Given the description of an element on the screen output the (x, y) to click on. 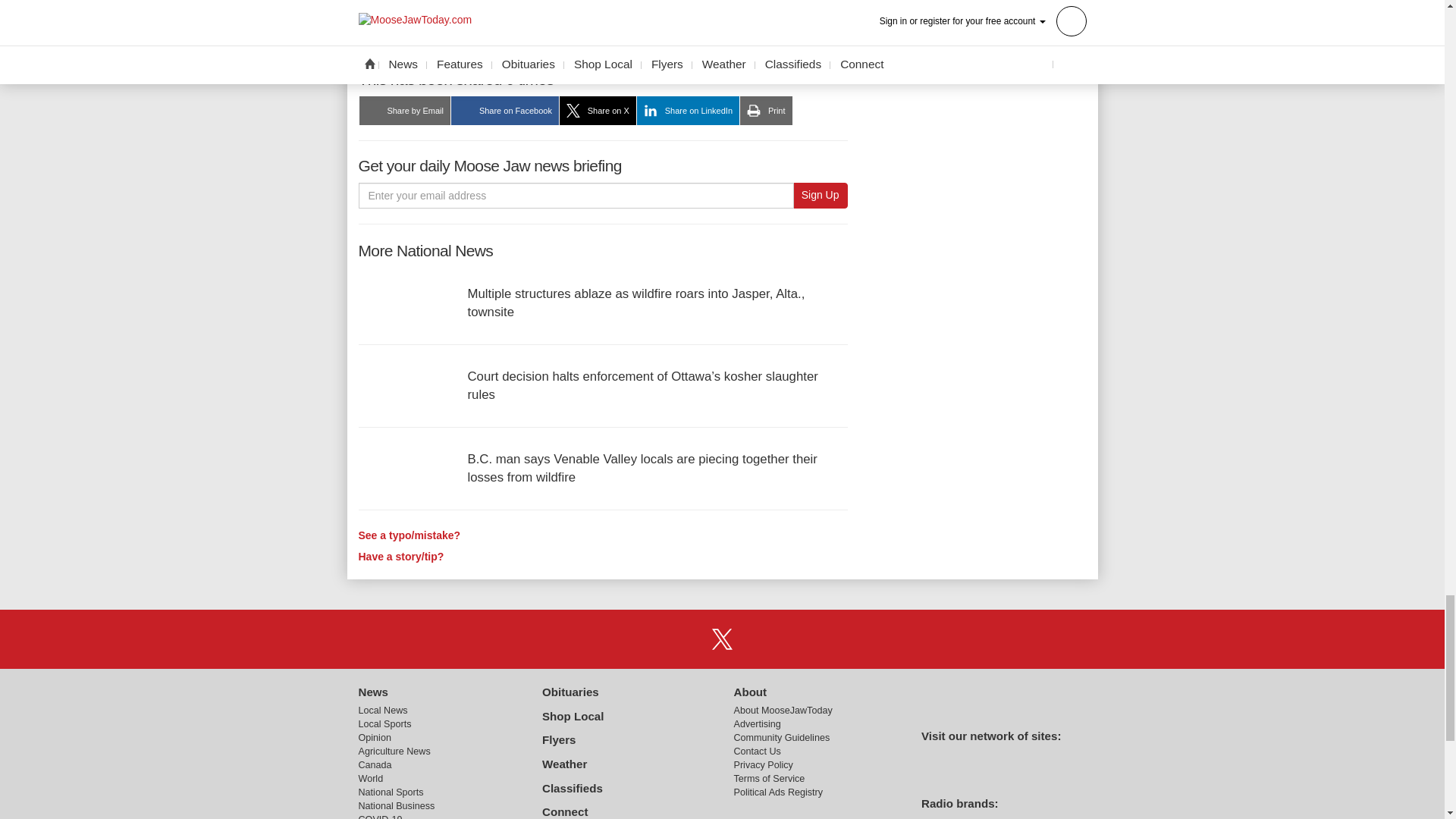
X (721, 638)
Facebook (683, 638)
Instagram (760, 638)
